Given the description of an element on the screen output the (x, y) to click on. 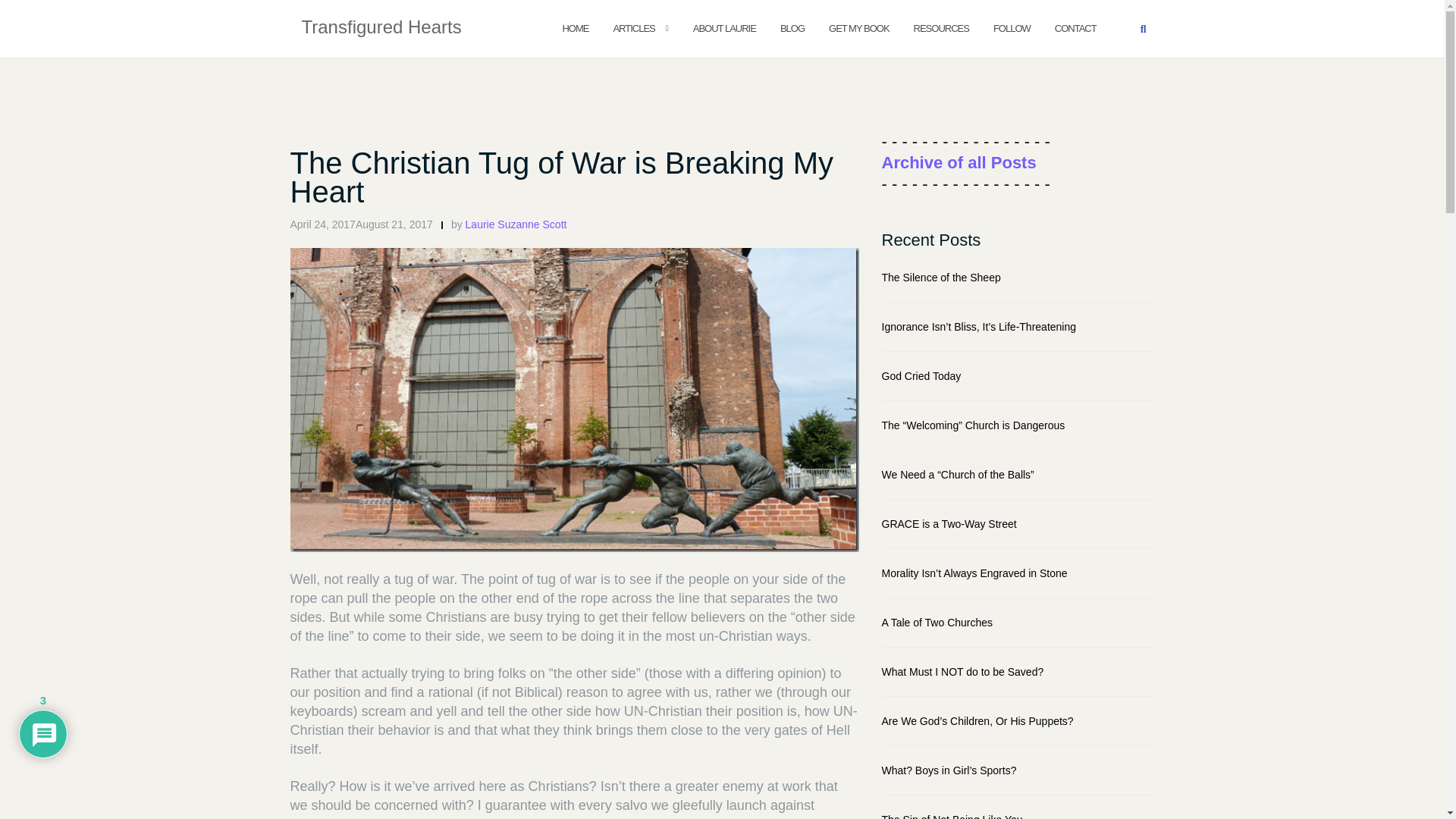
GET MY BOOK (858, 28)
Resources (941, 28)
Transfigured Hearts (381, 28)
Follow (1011, 28)
FOLLOW (1011, 28)
About Laurie (724, 28)
Contact (1075, 28)
CONTACT (1075, 28)
Articles (632, 28)
ABOUT LAURIE (724, 28)
Get My Book (858, 28)
ARTICLES (632, 28)
Laurie Suzanne Scott (516, 224)
RESOURCES (941, 28)
